Given the description of an element on the screen output the (x, y) to click on. 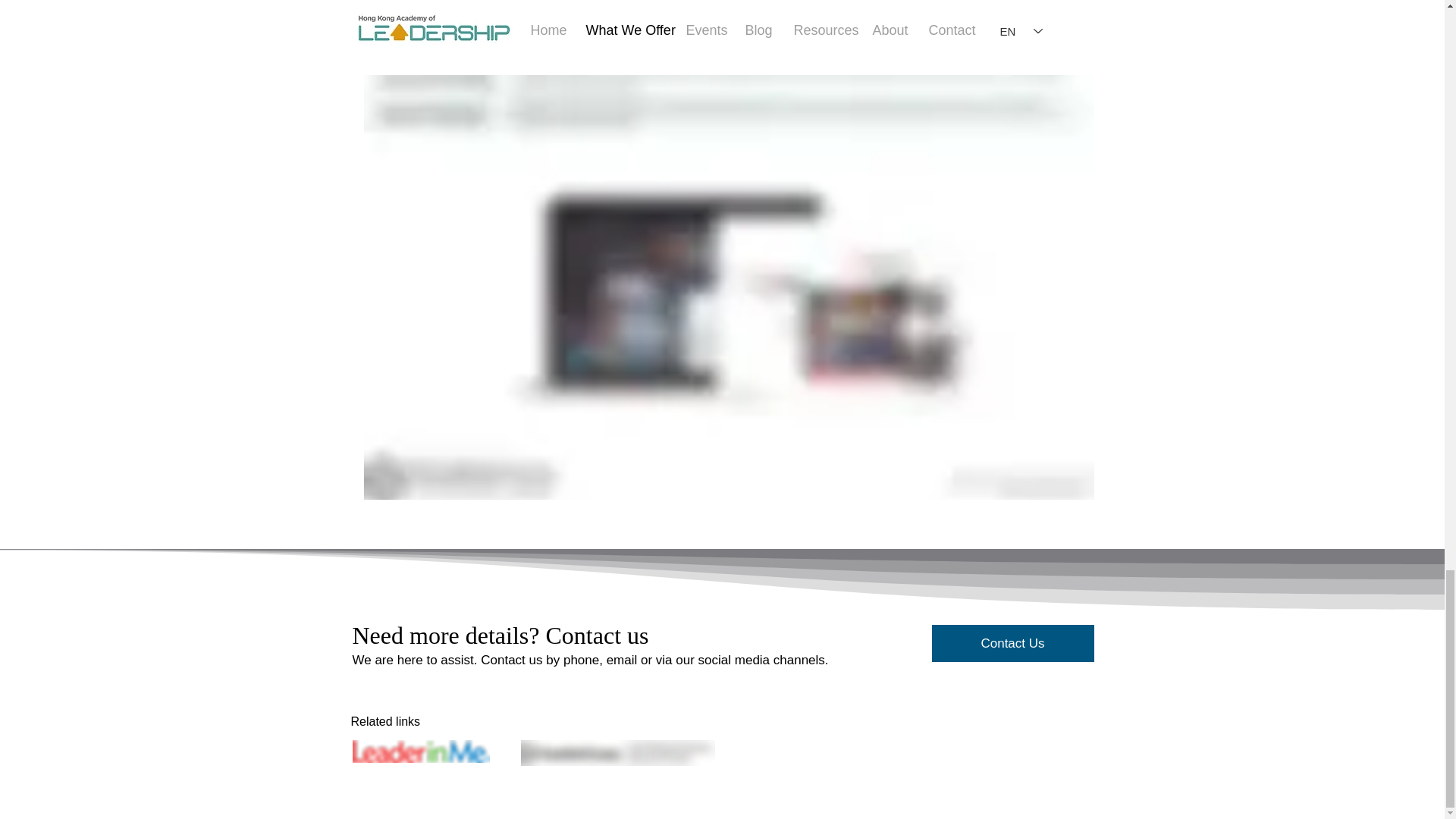
Contact Us (1012, 642)
